Given the description of an element on the screen output the (x, y) to click on. 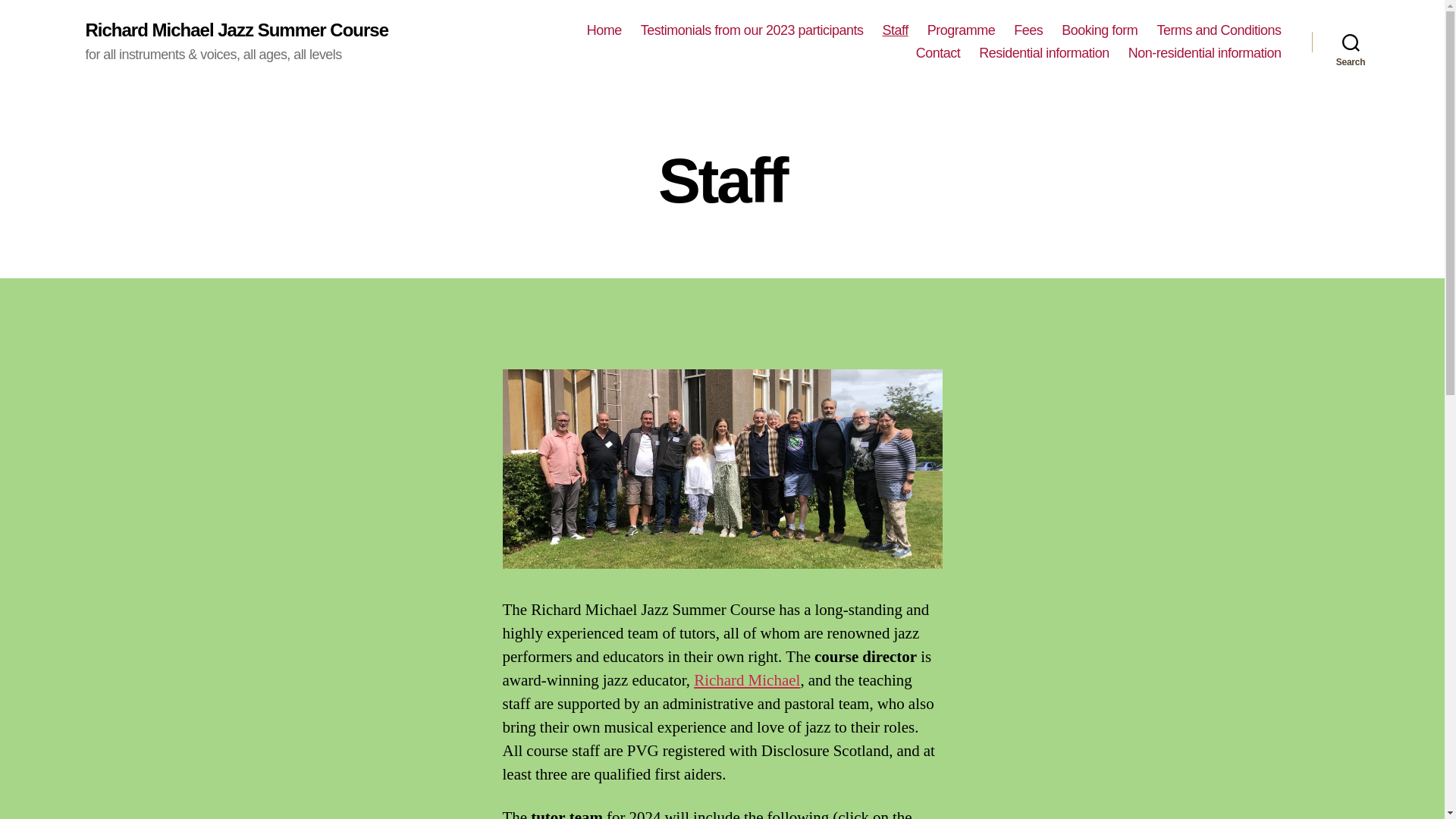
Testimonials from our 2023 participants (751, 30)
Richard Michael (746, 680)
Terms and Conditions (1218, 30)
Fees (1027, 30)
Richard Michael Jazz Summer Course (236, 30)
Booking form (1099, 30)
Non-residential information (1204, 53)
Staff (895, 30)
Programme (961, 30)
Contact (937, 53)
Residential information (1043, 53)
Search (1350, 41)
Home (603, 30)
